Given the description of an element on the screen output the (x, y) to click on. 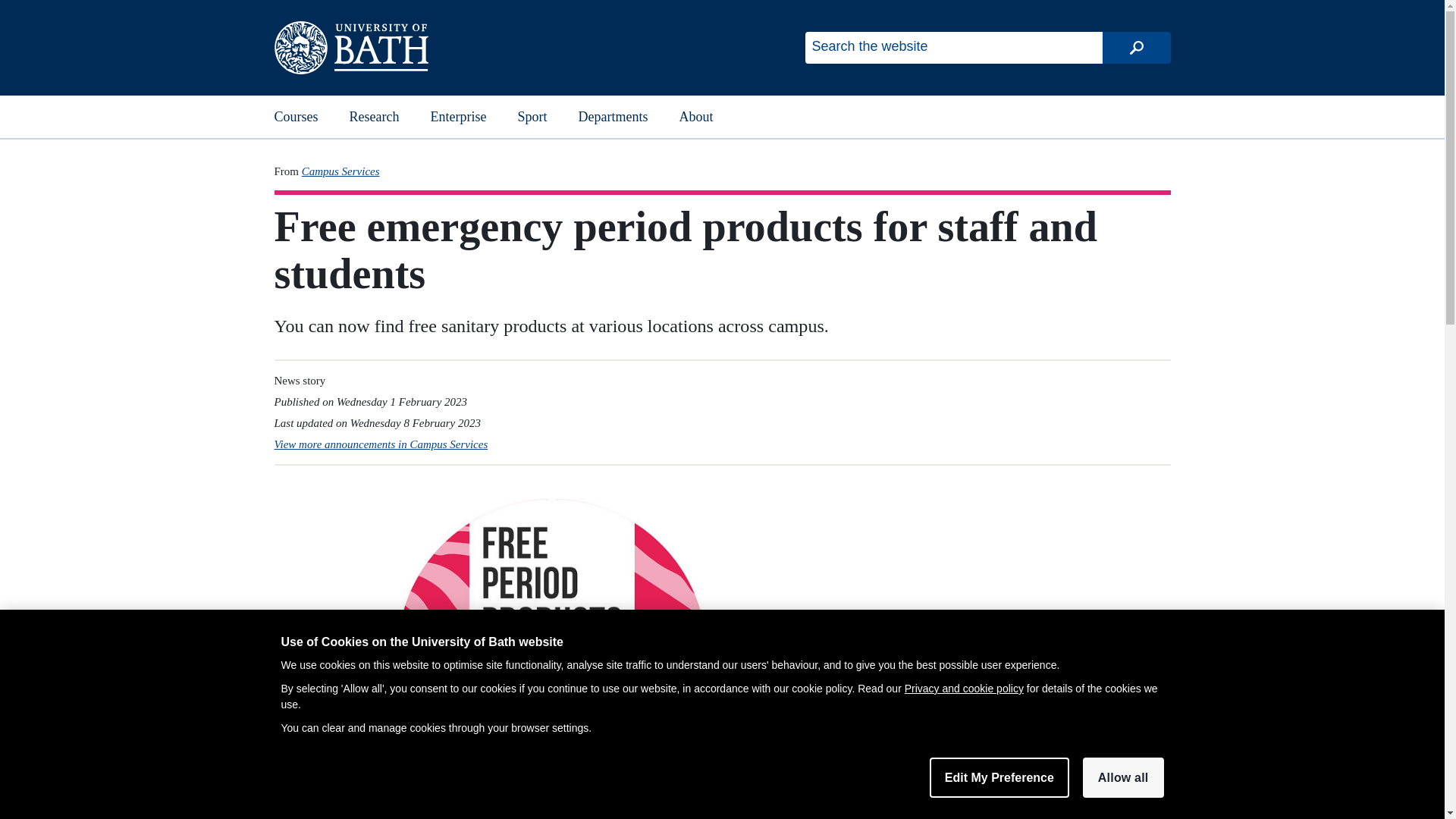
Privacy and cookie policy (963, 688)
Research (373, 116)
search (1136, 47)
Enterprise (458, 116)
Allow all (1123, 777)
Departments (612, 116)
search (1136, 47)
View more announcements in Campus Services (381, 444)
Edit My Preference (999, 777)
search (1136, 47)
Sport (531, 116)
Type search term here (953, 47)
Courses (296, 116)
About (696, 116)
Campus Services (340, 171)
